Given the description of an element on the screen output the (x, y) to click on. 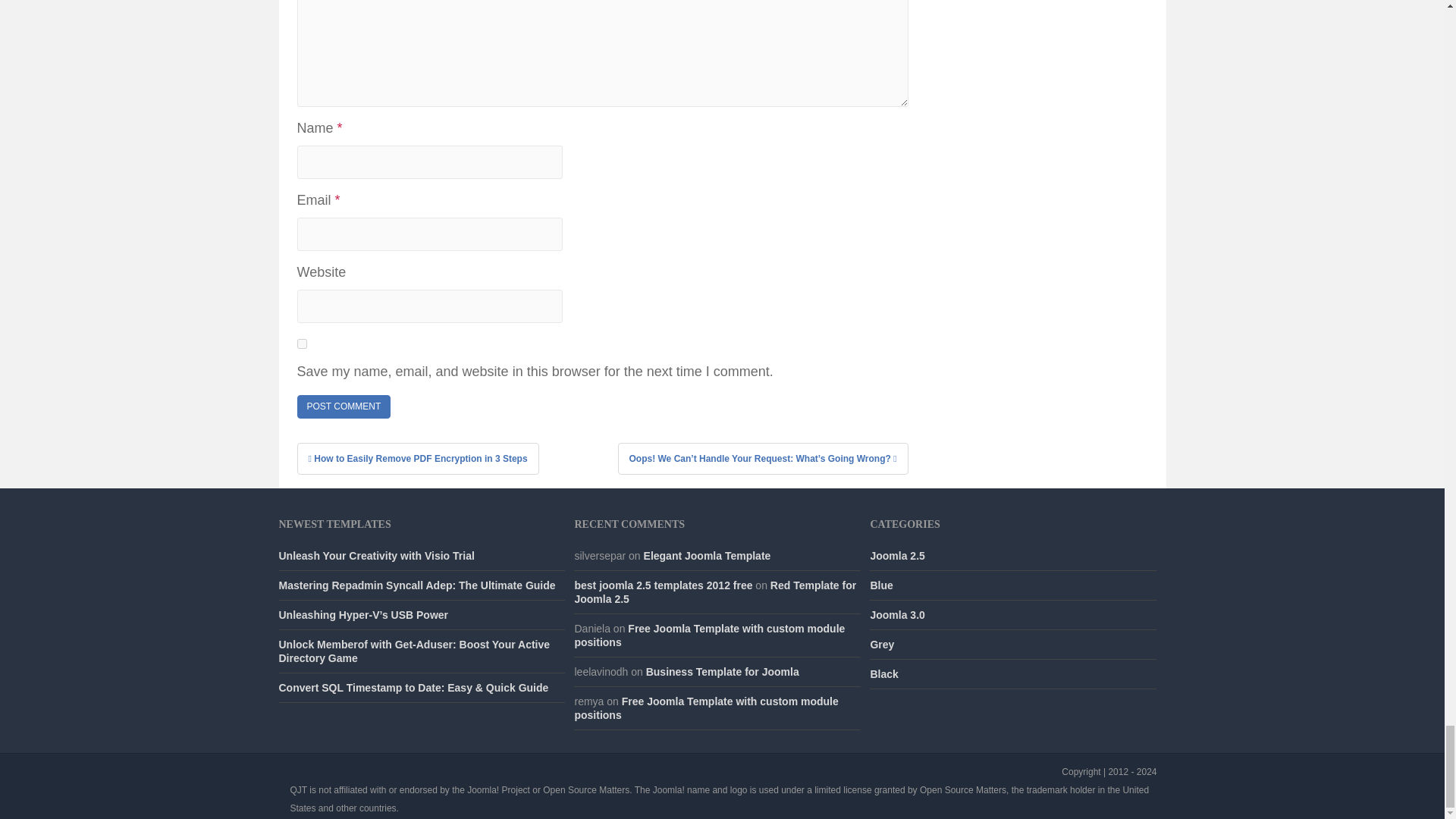
How to Easily Remove PDF Encryption in 3 Steps (417, 459)
Red Template for Joomla 2.5 (714, 592)
Elegant Joomla Template (707, 555)
Unleash Your Creativity with Visio Trial (376, 555)
Joomla 3.0 (896, 614)
Mastering Repadmin Syncall Adep: The Ultimate Guide (417, 585)
Post Comment (344, 406)
Business Template for Joomla (722, 671)
Joomla 2.5 (896, 555)
Post Comment (344, 406)
Free Joomla Template with custom module positions (705, 708)
Free Joomla Template with custom module positions (708, 635)
Blue (880, 585)
yes (302, 343)
